Given the description of an element on the screen output the (x, y) to click on. 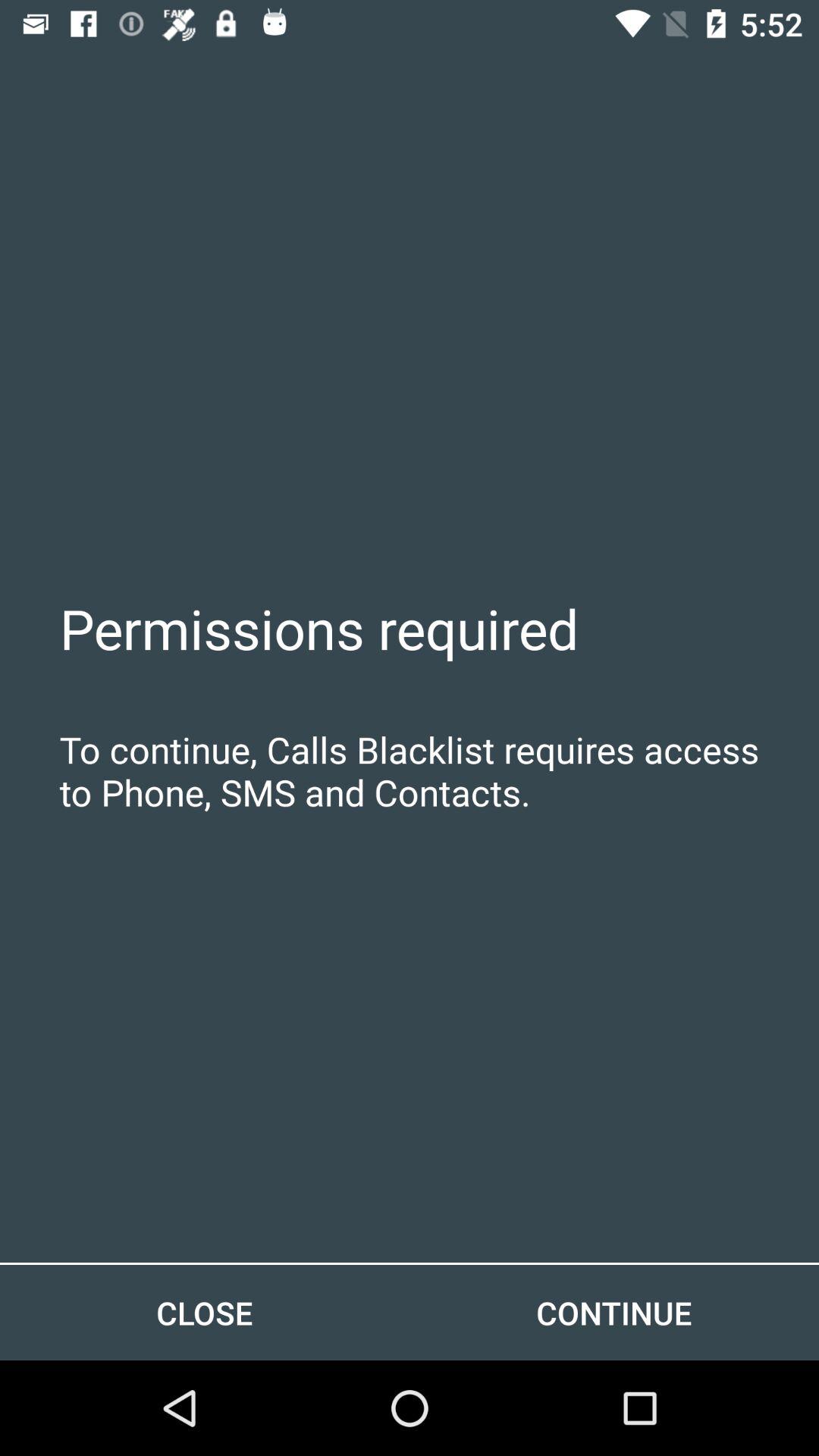
tap item to the left of the continue (204, 1312)
